Given the description of an element on the screen output the (x, y) to click on. 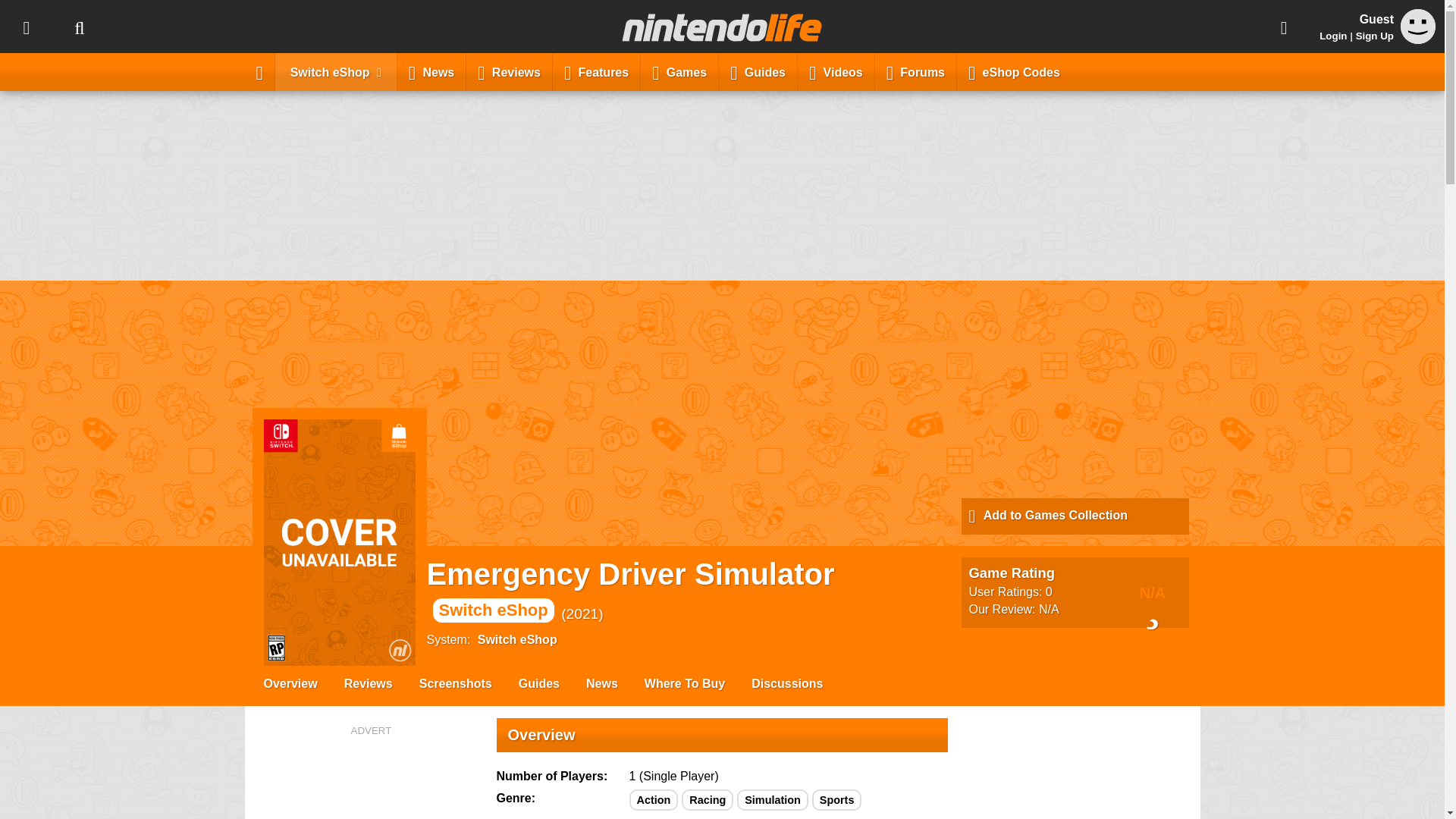
Videos (836, 71)
Switch eShop (336, 71)
Login (1332, 35)
Reviews (509, 71)
Share This Page (1283, 26)
Guides (758, 71)
Nintendo Life (721, 27)
Guest (1417, 26)
Nintendo Life (721, 27)
Guest (1417, 39)
